Given the description of an element on the screen output the (x, y) to click on. 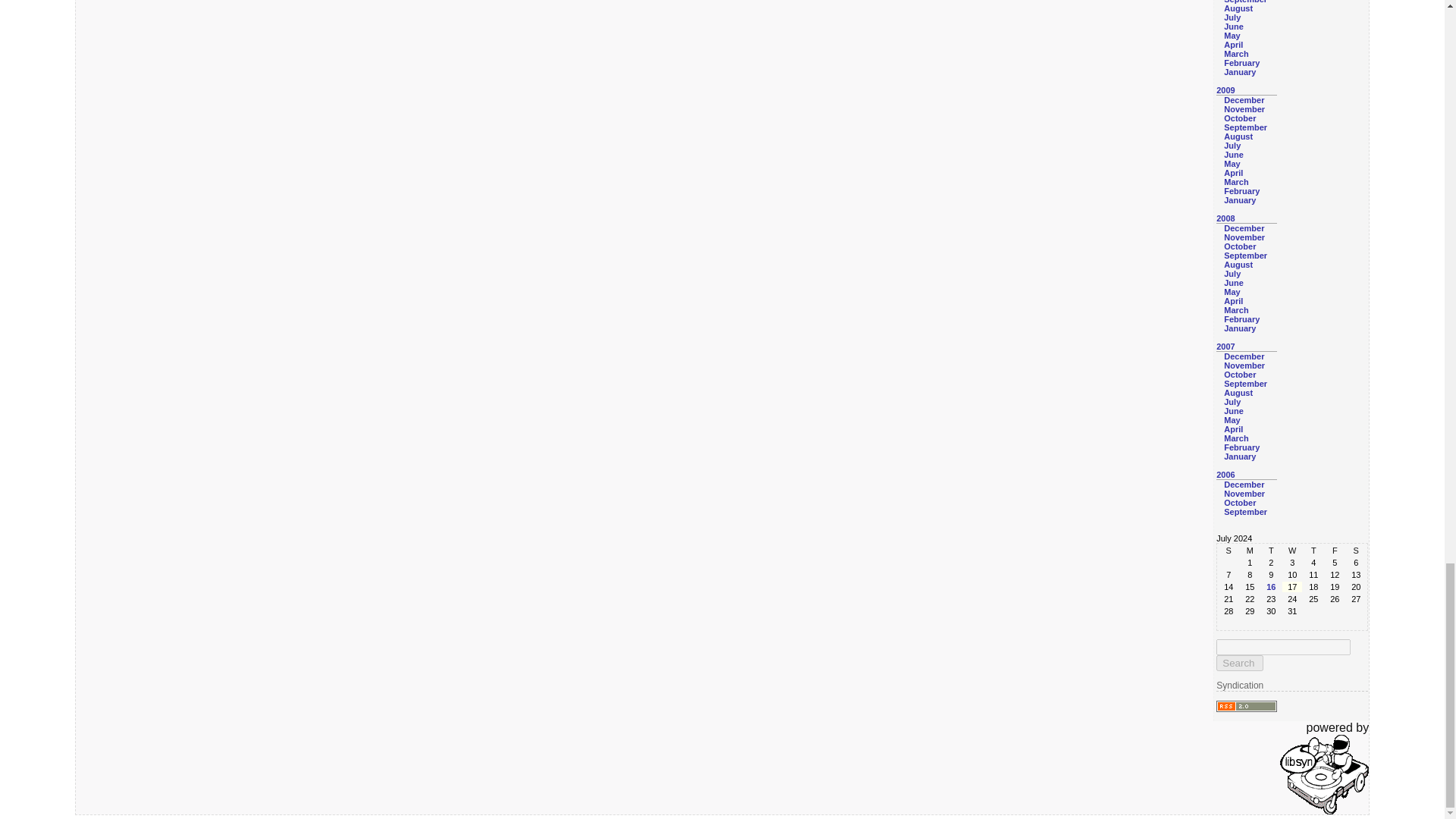
Monday (1249, 550)
Search  (1239, 662)
Saturday (1355, 550)
Sunday (1228, 550)
Wednesday (1291, 550)
Thursday (1313, 550)
Friday (1333, 550)
Tuesday (1270, 550)
